Given the description of an element on the screen output the (x, y) to click on. 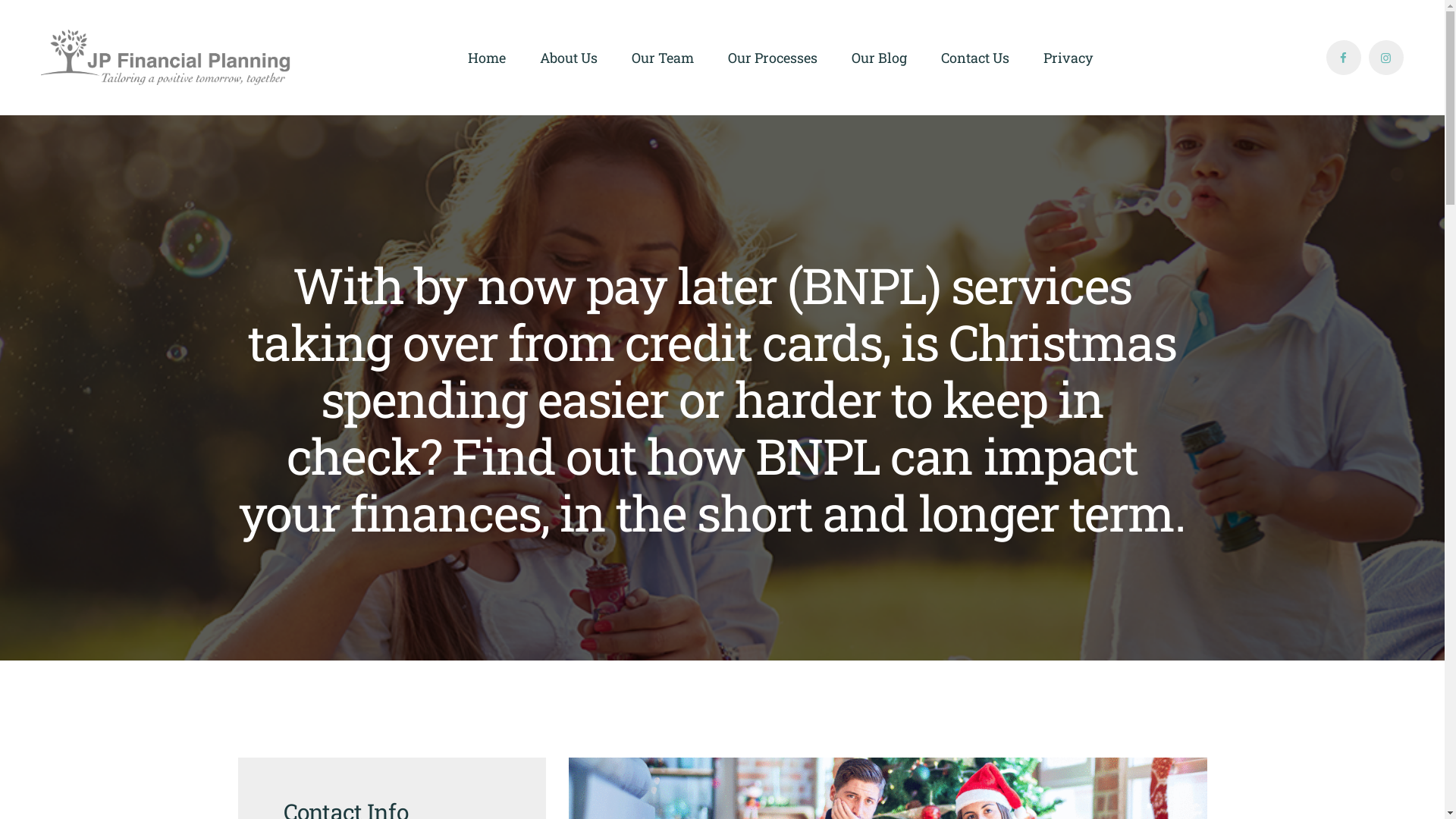
Our Processes Element type: text (772, 57)
Privacy Element type: text (1067, 57)
Contact Us Element type: text (974, 57)
Our Blog Element type: text (878, 57)
Home Element type: text (486, 57)
About Us Element type: text (568, 57)
Our Team Element type: text (662, 57)
